Given the description of an element on the screen output the (x, y) to click on. 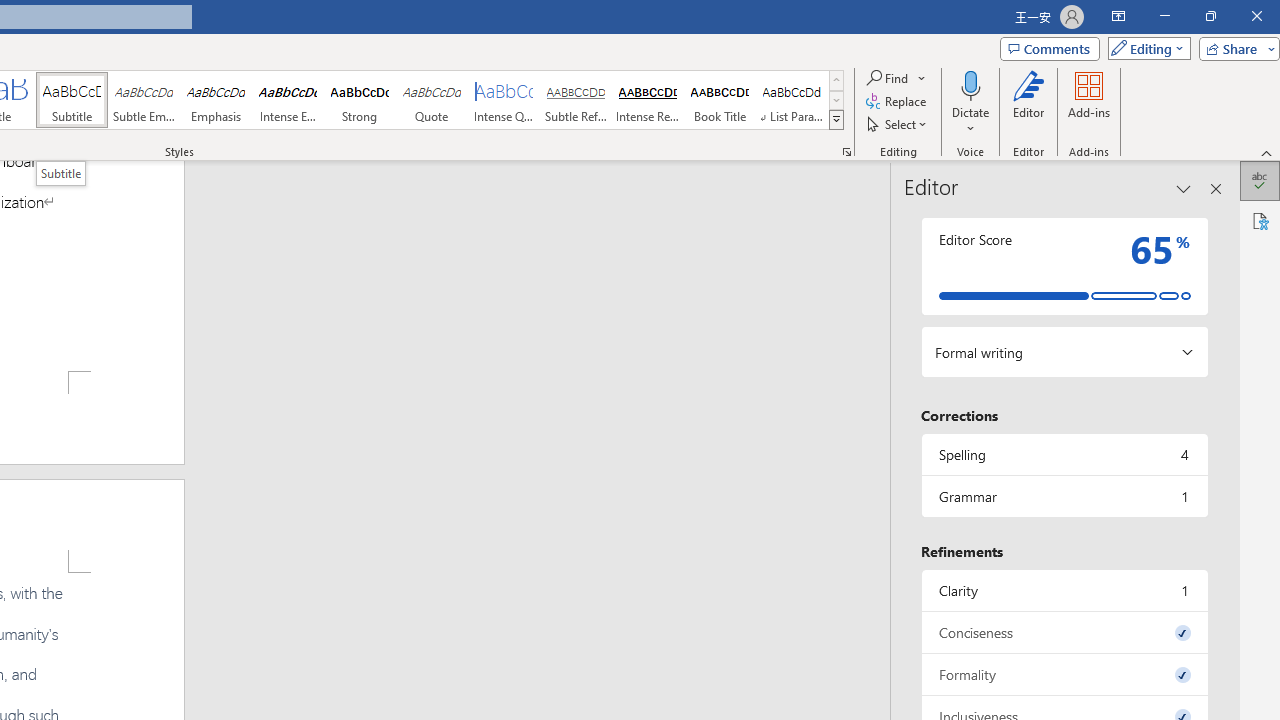
Comments (1049, 48)
Row Down (836, 100)
Replace... (897, 101)
Strong (359, 100)
Styles... (846, 151)
Grammar, 1 issue. Press space or enter to review items. (1064, 495)
Conciseness, 0 issues. Press space or enter to review items. (1064, 632)
Subtle Emphasis (143, 100)
Ribbon Display Options (1118, 16)
Clarity, 1 issue. Press space or enter to review items. (1064, 590)
Close pane (1215, 188)
Intense Emphasis (287, 100)
Formality, 0 issues. Press space or enter to review items. (1064, 673)
